Given the description of an element on the screen output the (x, y) to click on. 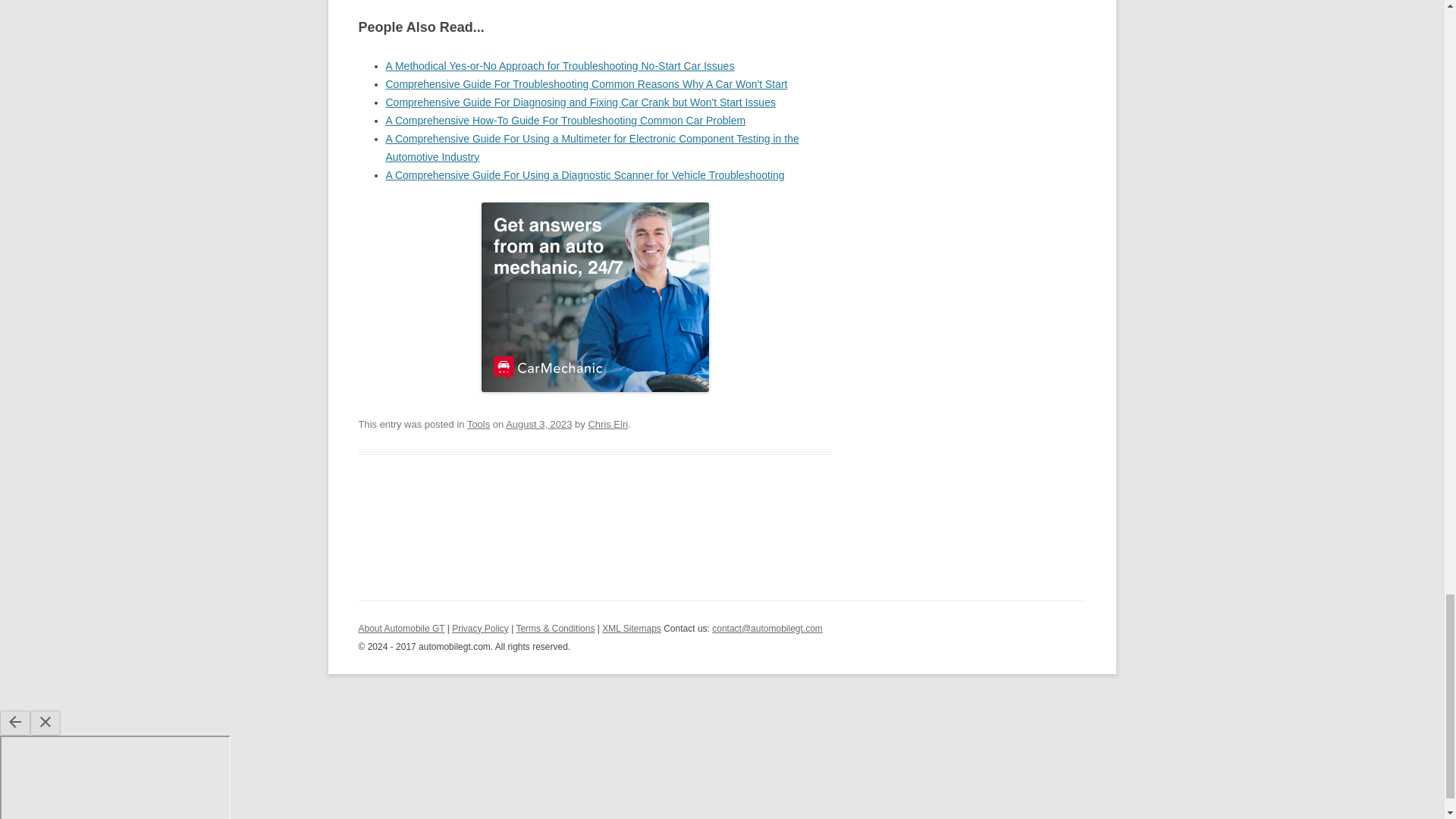
Tools (478, 423)
About Automobile GT (401, 628)
Chris Elri (607, 423)
August 3, 2023 (538, 423)
XML Sitemaps (631, 628)
View all posts by Chris Elri (607, 423)
Privacy Policy (479, 628)
11:24 am (538, 423)
